Given the description of an element on the screen output the (x, y) to click on. 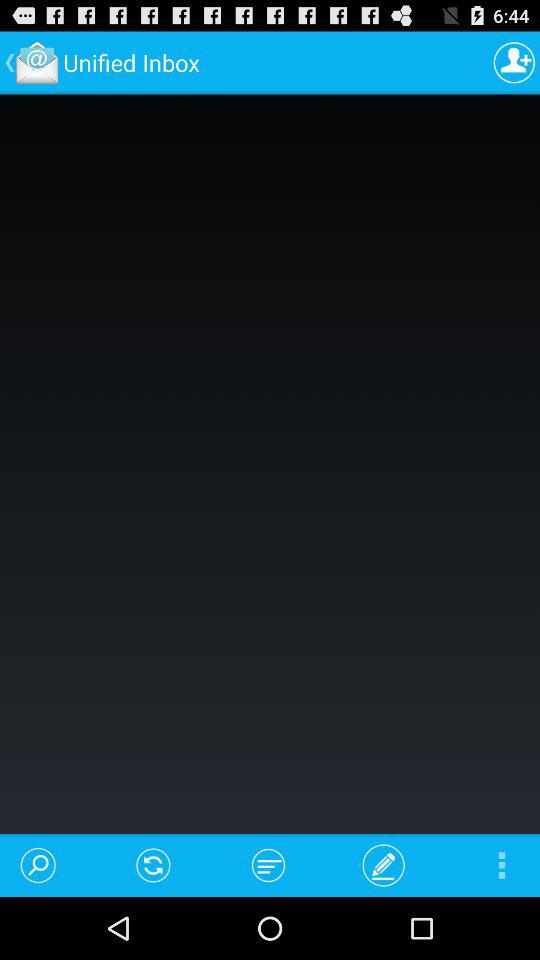
select the item at the bottom (268, 864)
